Given the description of an element on the screen output the (x, y) to click on. 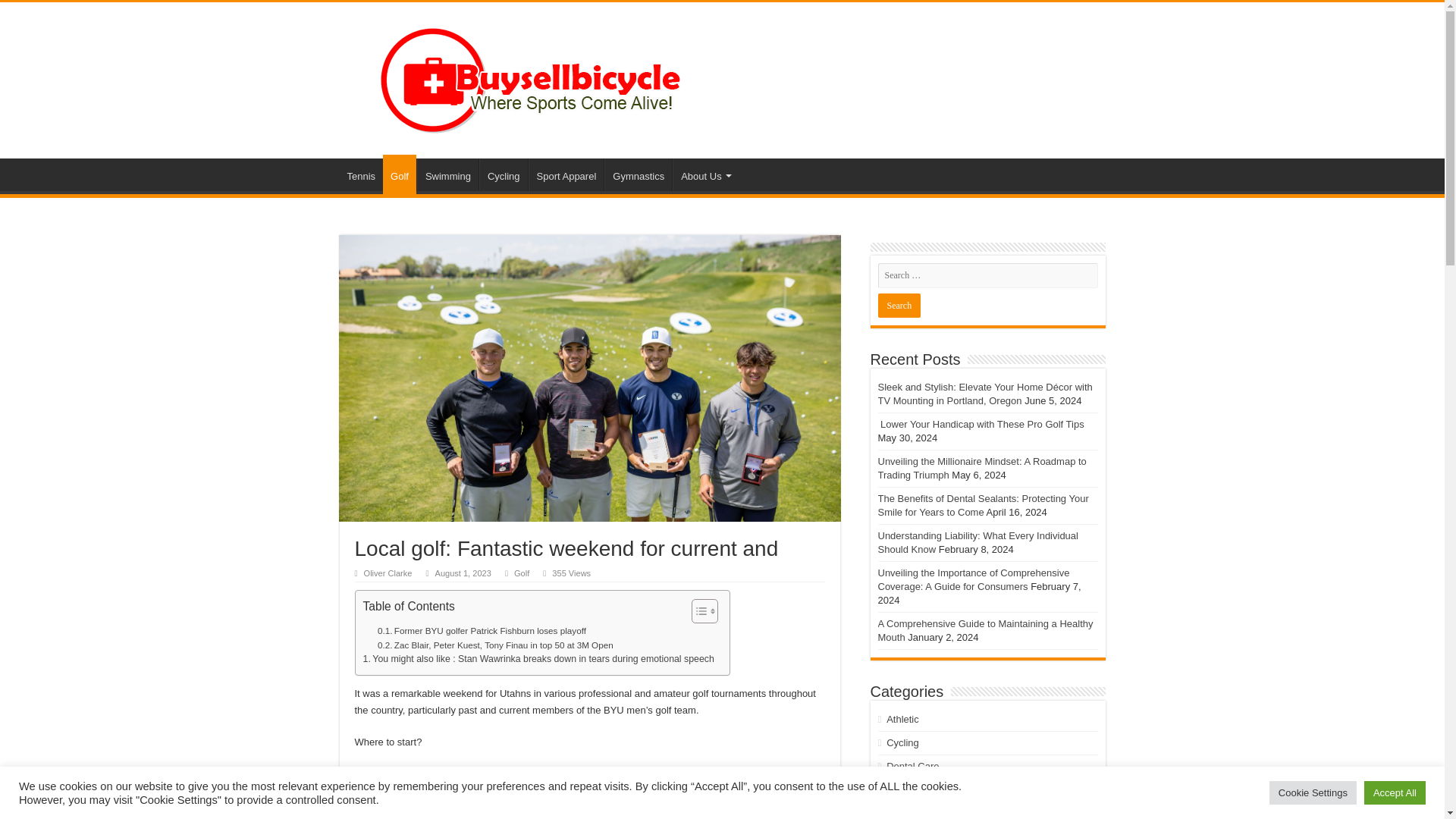
Former BYU golfer Patrick Fishburn loses playoff (481, 631)
Golf (521, 573)
Zac Blair, Peter Kuest, Tony Finau in top 50 at 3M Open (494, 645)
Former BYU golfer Patrick Fishburn loses playoff (481, 631)
Cycling (503, 174)
Search (899, 305)
buysell bicycle (539, 76)
Zac Blair, Peter Kuest, Tony Finau in top 50 at 3M Open (494, 645)
Swimming (447, 174)
